Given the description of an element on the screen output the (x, y) to click on. 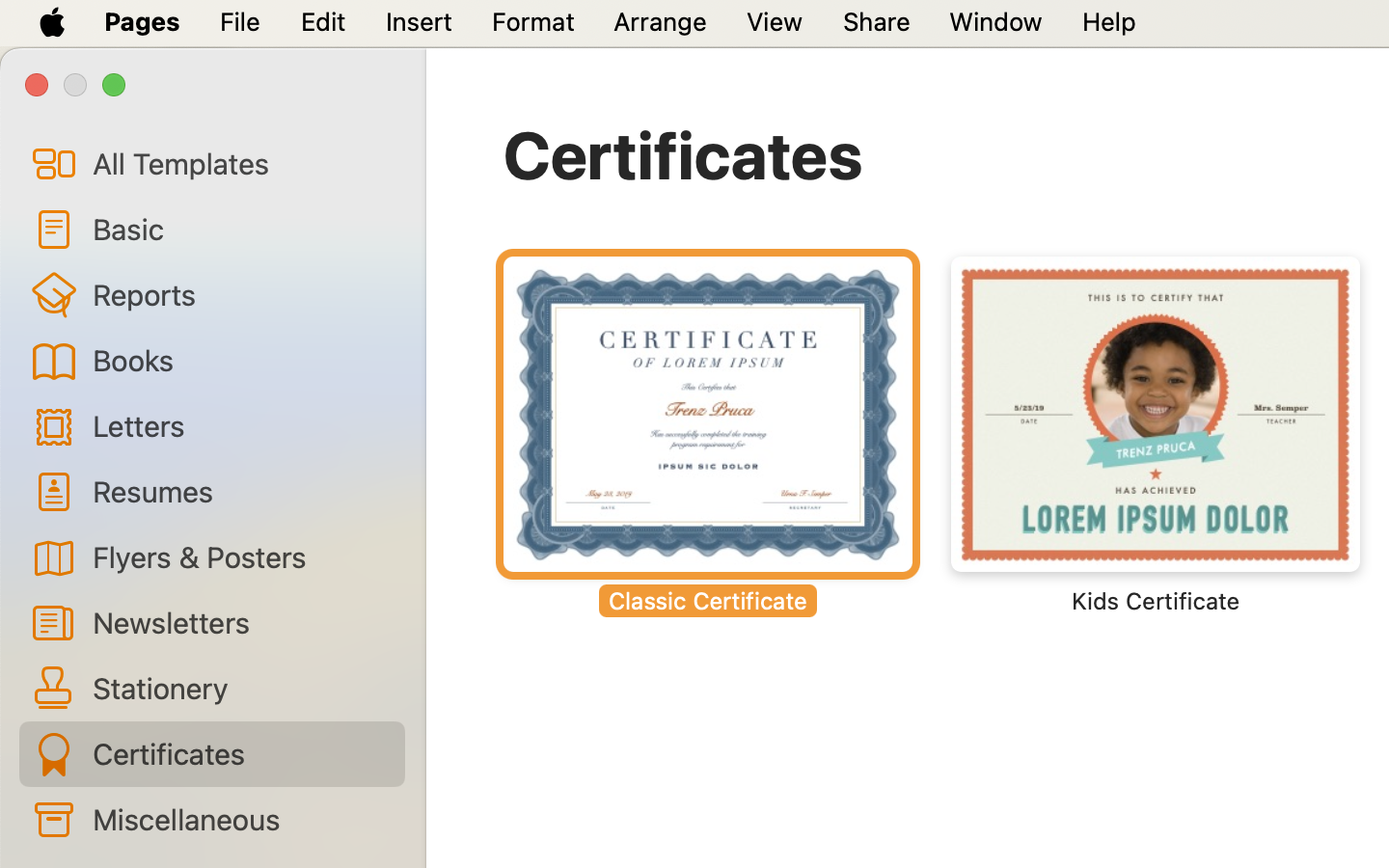
‎⁨Kids Certificate⁩ Element type: AXButton (1155, 435)
Reports Element type: AXStaticText (240, 293)
Basic Element type: AXStaticText (240, 228)
Stationery Element type: AXStaticText (240, 687)
Miscellaneous Element type: AXStaticText (240, 818)
